Given the description of an element on the screen output the (x, y) to click on. 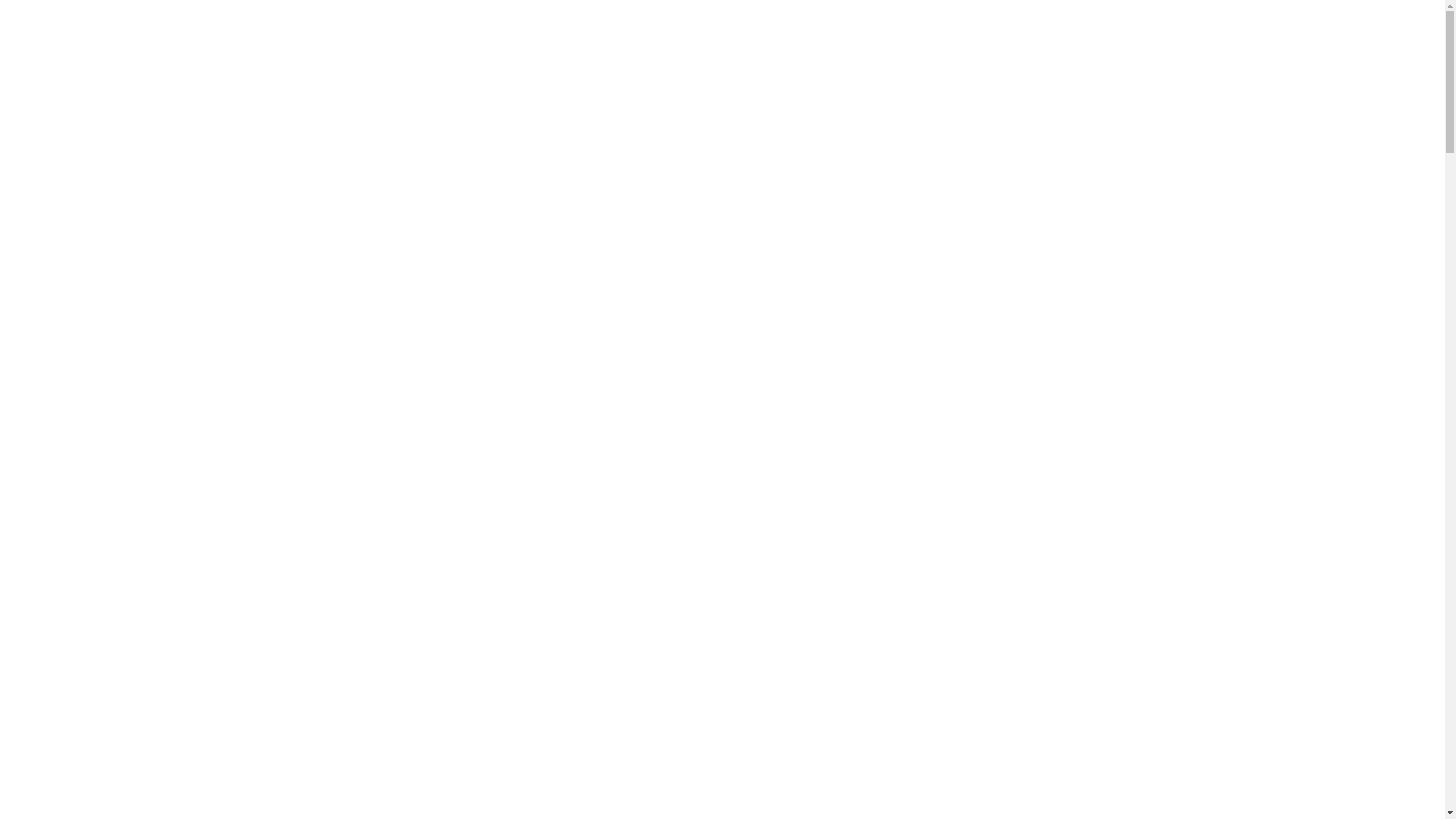
BLOG Element type: text (1368, 28)
WHOLESALE Element type: text (968, 28)
COURSES Element type: text (1207, 28)
THE JOURNEY Element type: text (1120, 28)
PURCHASE Element type: text (762, 28)
WHAT'S IN A CUP Element type: text (863, 28)
OUR COFFEE Element type: text (674, 28)
CONTACT US Element type: text (1294, 28)
MENU Element type: text (1041, 28)
